Given the description of an element on the screen output the (x, y) to click on. 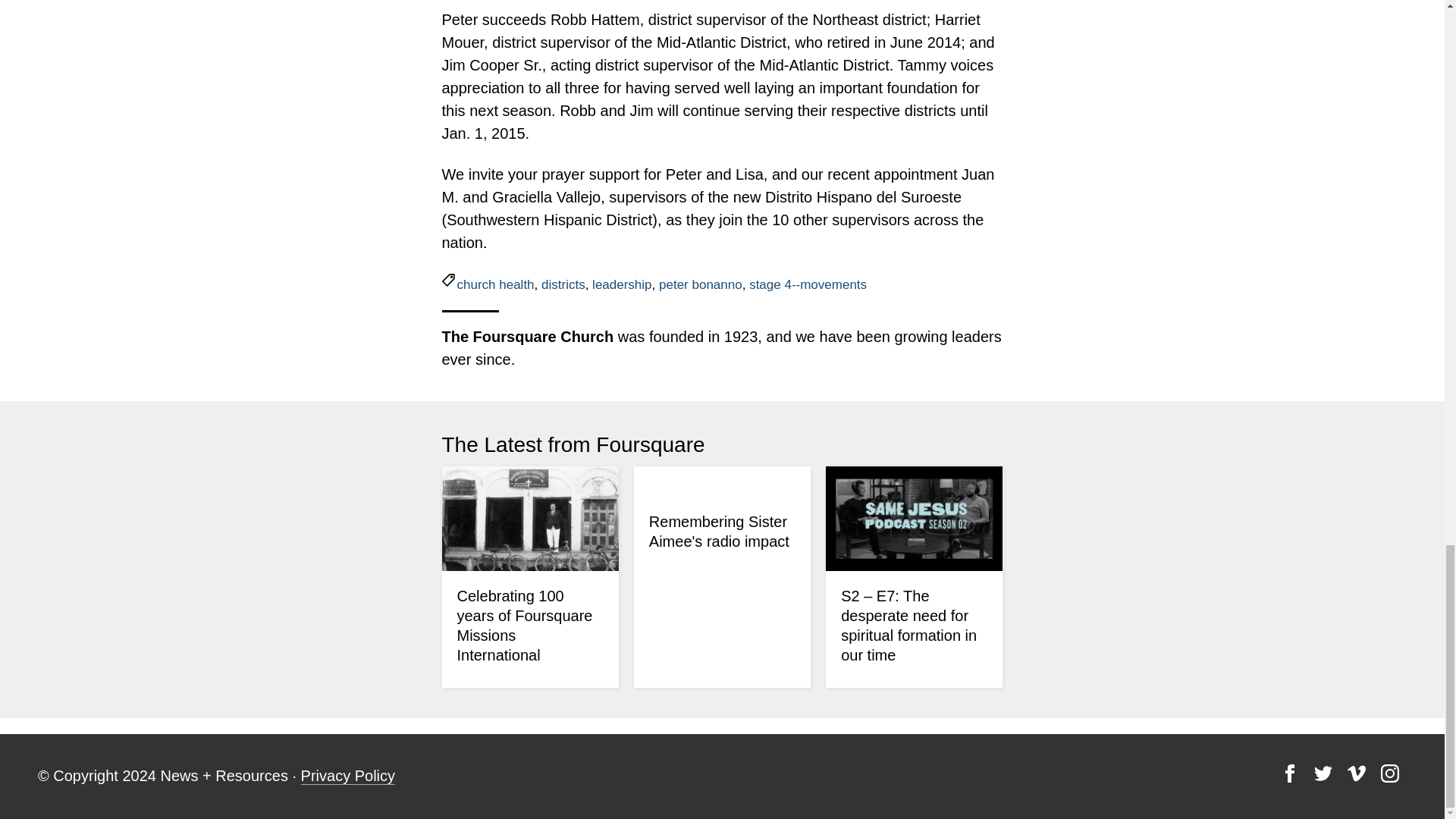
districts (563, 283)
The Foursquare Church (526, 336)
Remembering Sister Aimee's radio impact (719, 531)
leadership (621, 283)
stage 4--movements (807, 283)
church health (495, 283)
peter bonanno (700, 283)
Celebrating 100 years of Foursquare Missions International (524, 625)
Posts by The Foursquare Church (526, 336)
Privacy Policy (347, 775)
